Given the description of an element on the screen output the (x, y) to click on. 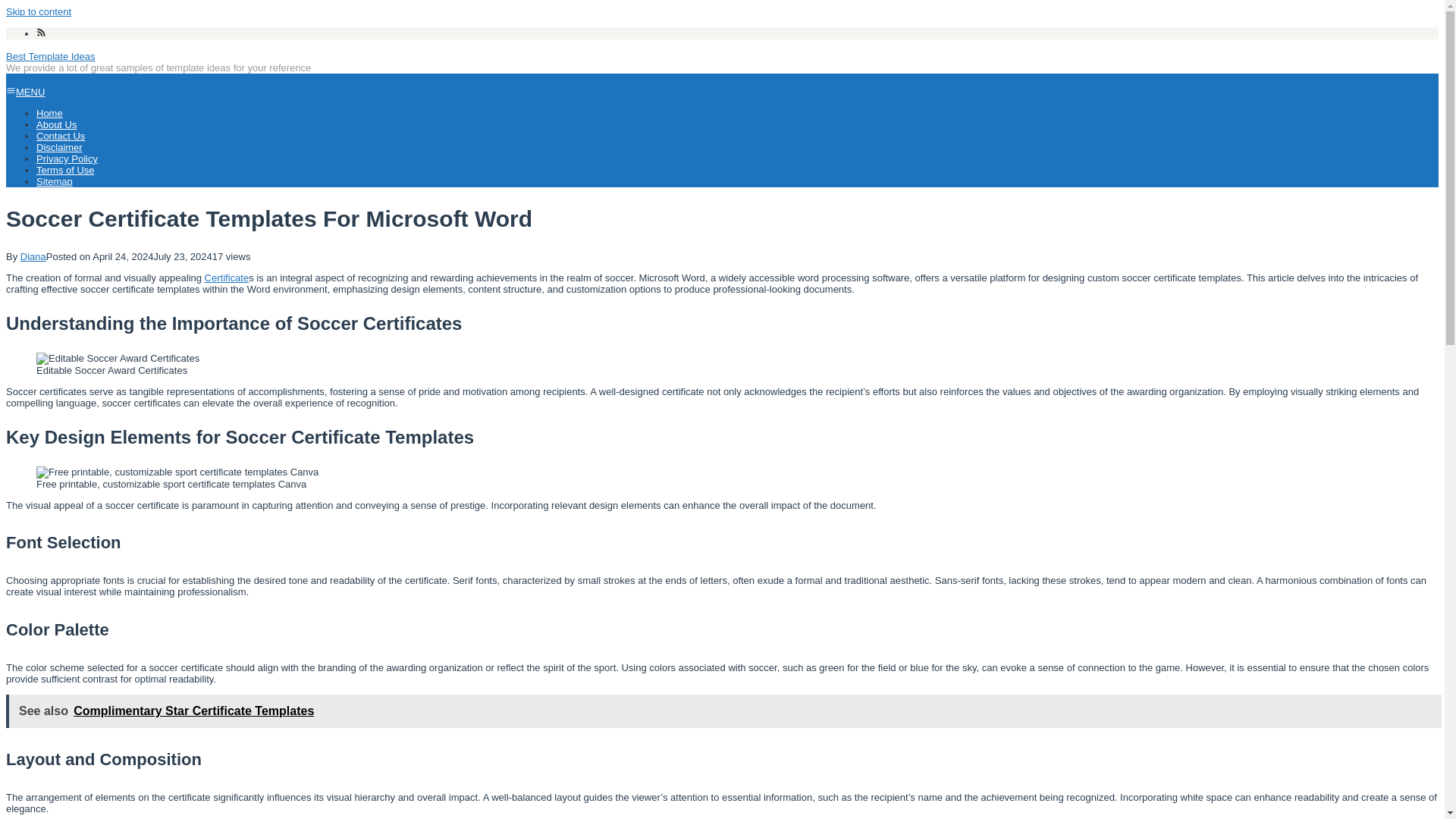
Permalink to: Diana (33, 256)
Skip to content (38, 11)
Contact Us (60, 135)
Terms of Use (65, 170)
MENU (25, 91)
Editable Soccer Award Certificates (117, 358)
Diana (33, 256)
About Us (56, 124)
Certificate (226, 277)
RSS (41, 33)
Disclaimer (59, 147)
Sitemap (54, 181)
Privacy Policy (66, 158)
Home (49, 112)
